Given the description of an element on the screen output the (x, y) to click on. 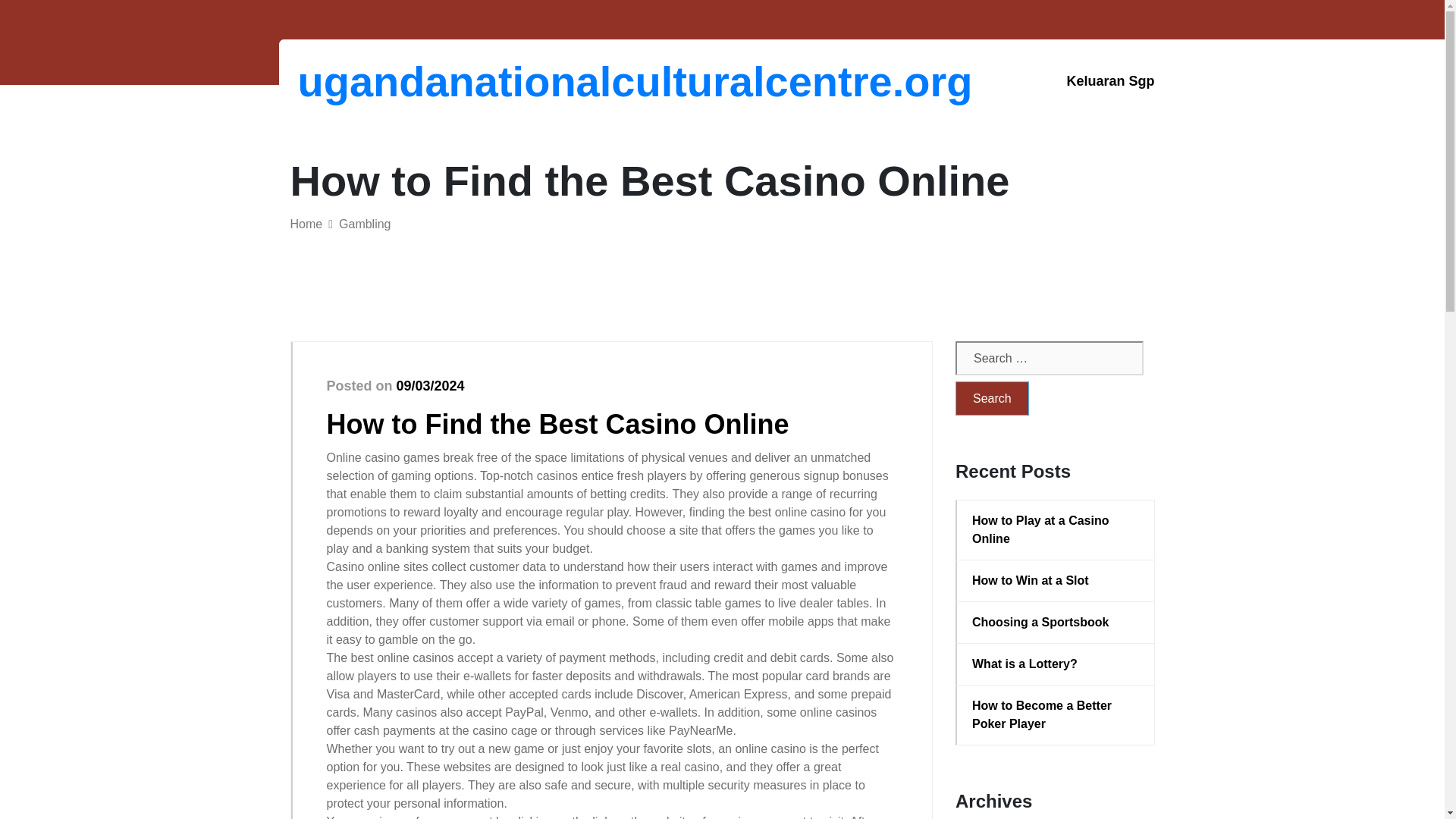
Search (992, 398)
Keluaran Sgp (1109, 81)
How to Find the Best Casino Online (557, 423)
How to Win at a Slot (1055, 580)
ugandanationalculturalcentre.org (376, 81)
Home (305, 223)
Keluaran Sgp (1109, 81)
Search (992, 398)
How to Play at a Casino Online (1055, 529)
What is a Lottery? (1055, 664)
